Given the description of an element on the screen output the (x, y) to click on. 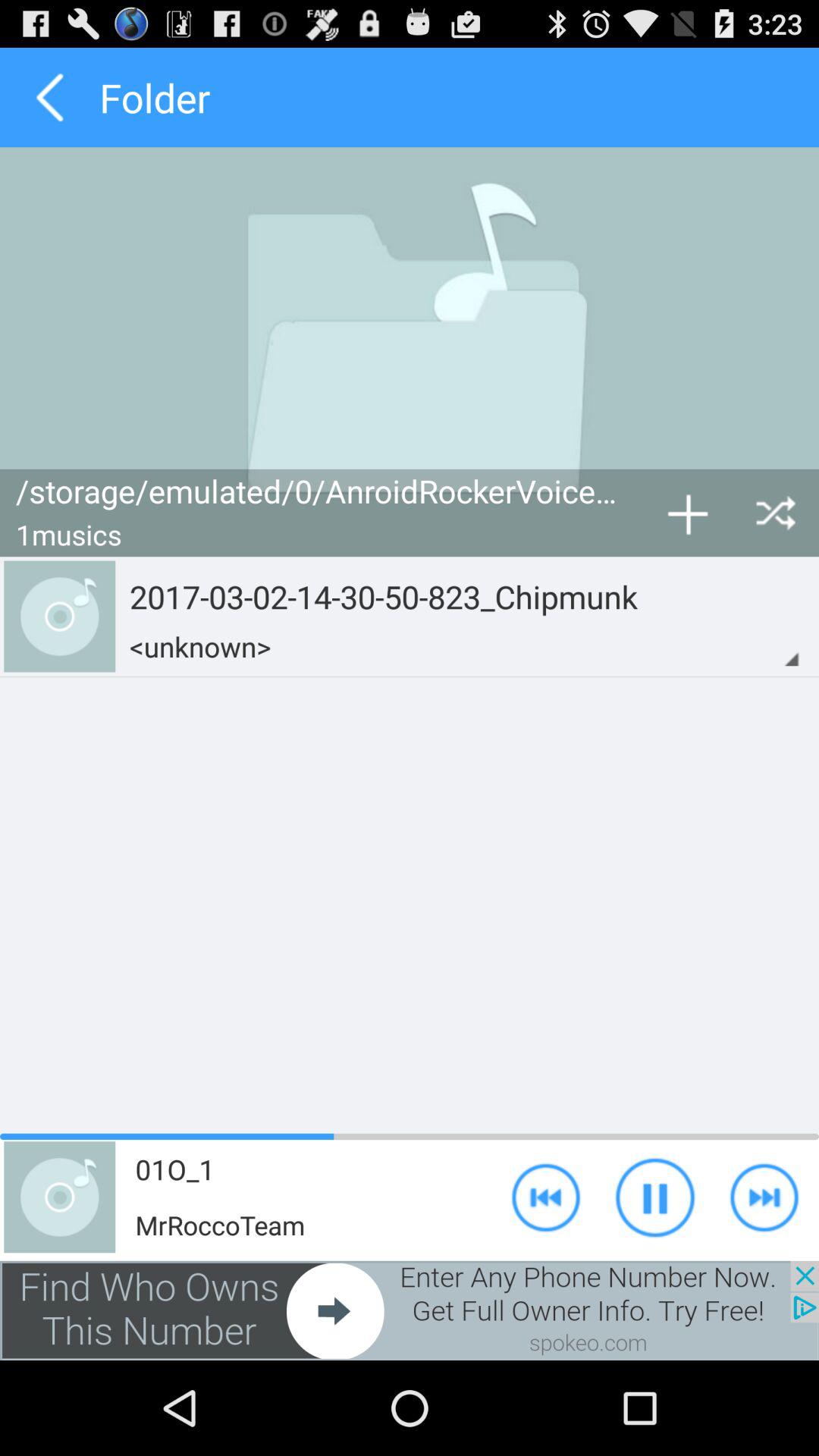
shuffle button (775, 512)
